Given the description of an element on the screen output the (x, y) to click on. 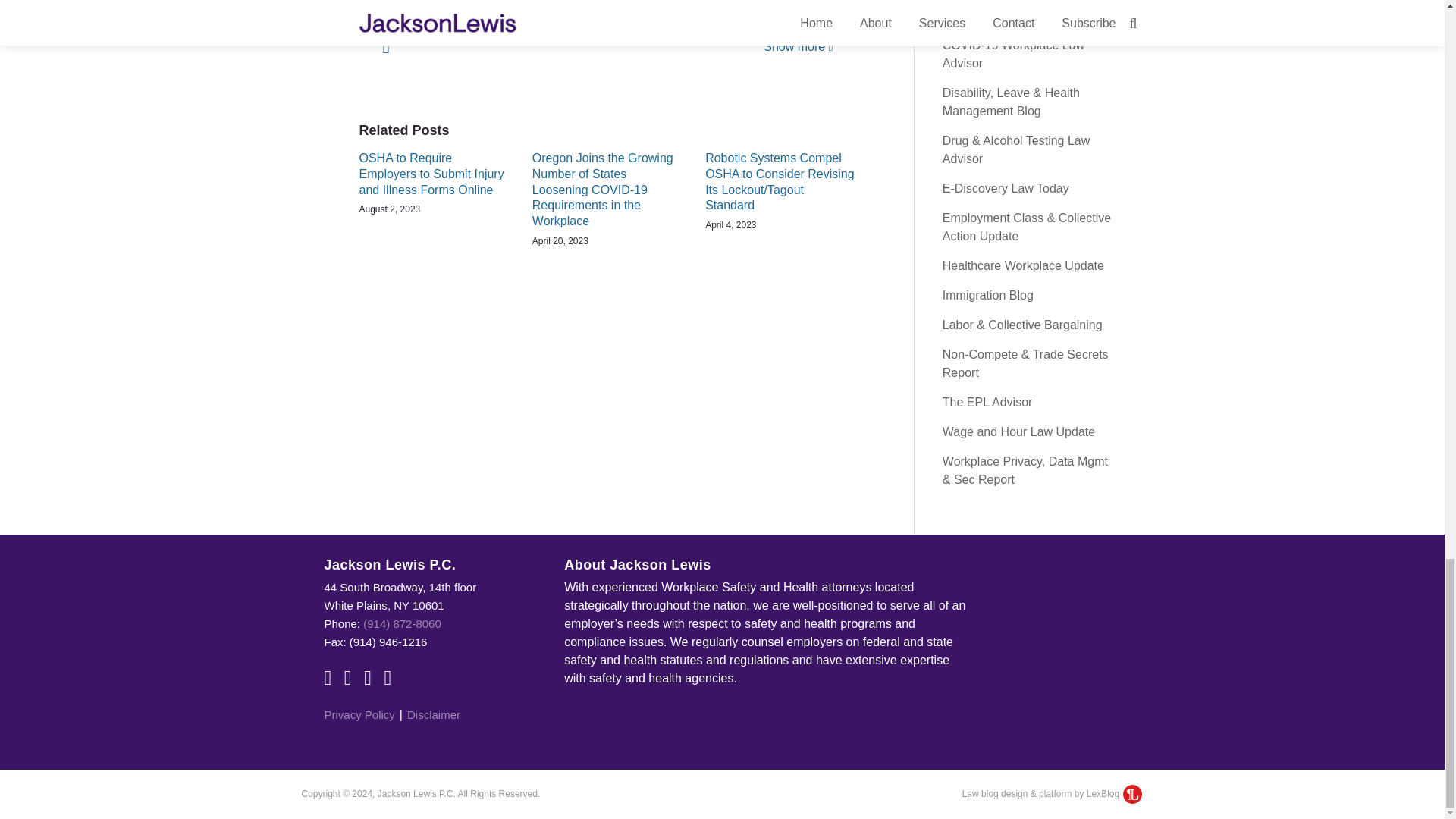
Show more (797, 46)
LexBlog Logo (1131, 793)
